Given the description of an element on the screen output the (x, y) to click on. 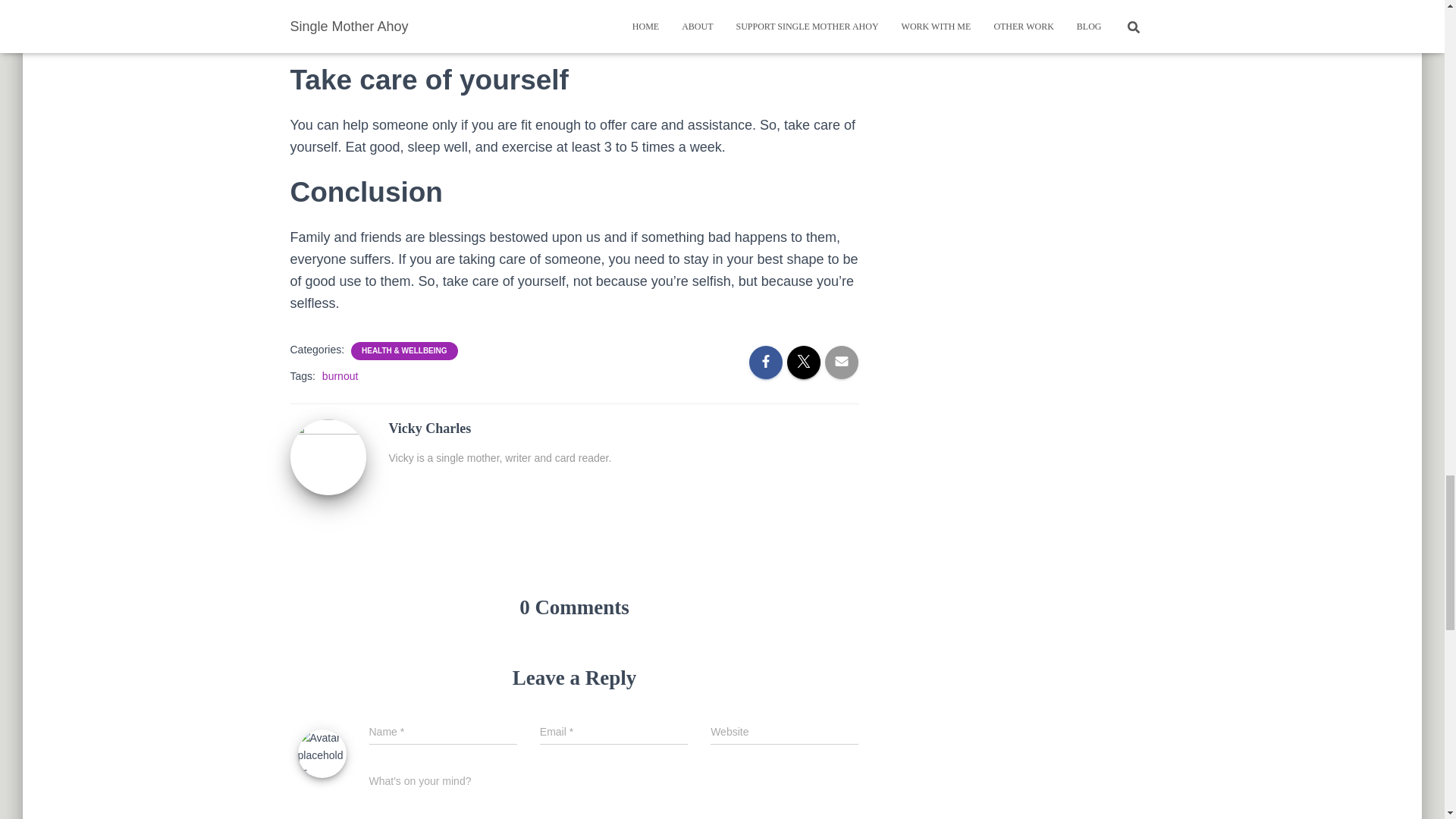
Vicky Charles (327, 456)
burnout (339, 376)
